Given the description of an element on the screen output the (x, y) to click on. 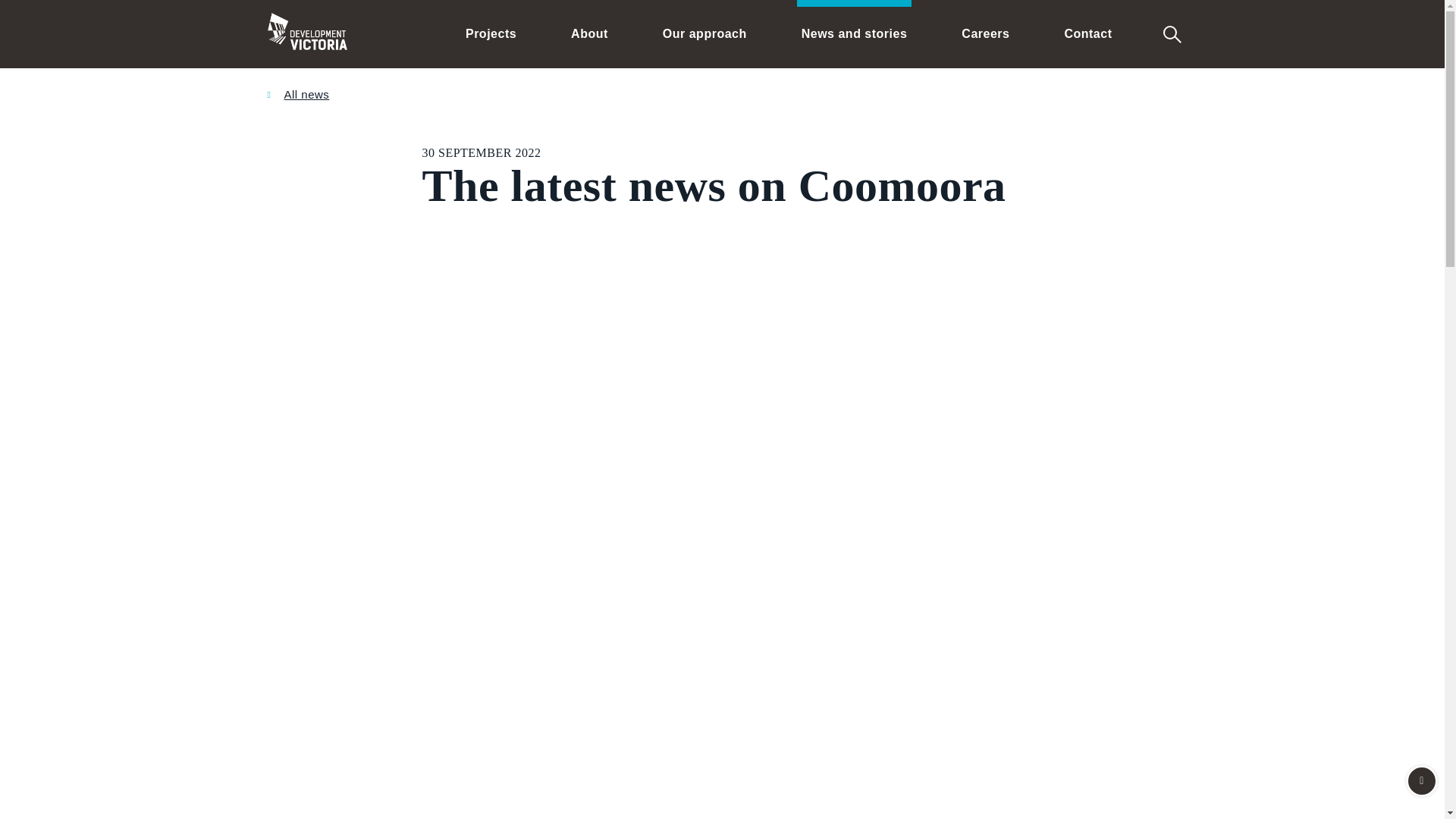
Back to Top (1421, 780)
Development Victoria (306, 33)
All news (297, 93)
Our approach (704, 33)
News and stories (854, 33)
